Given the description of an element on the screen output the (x, y) to click on. 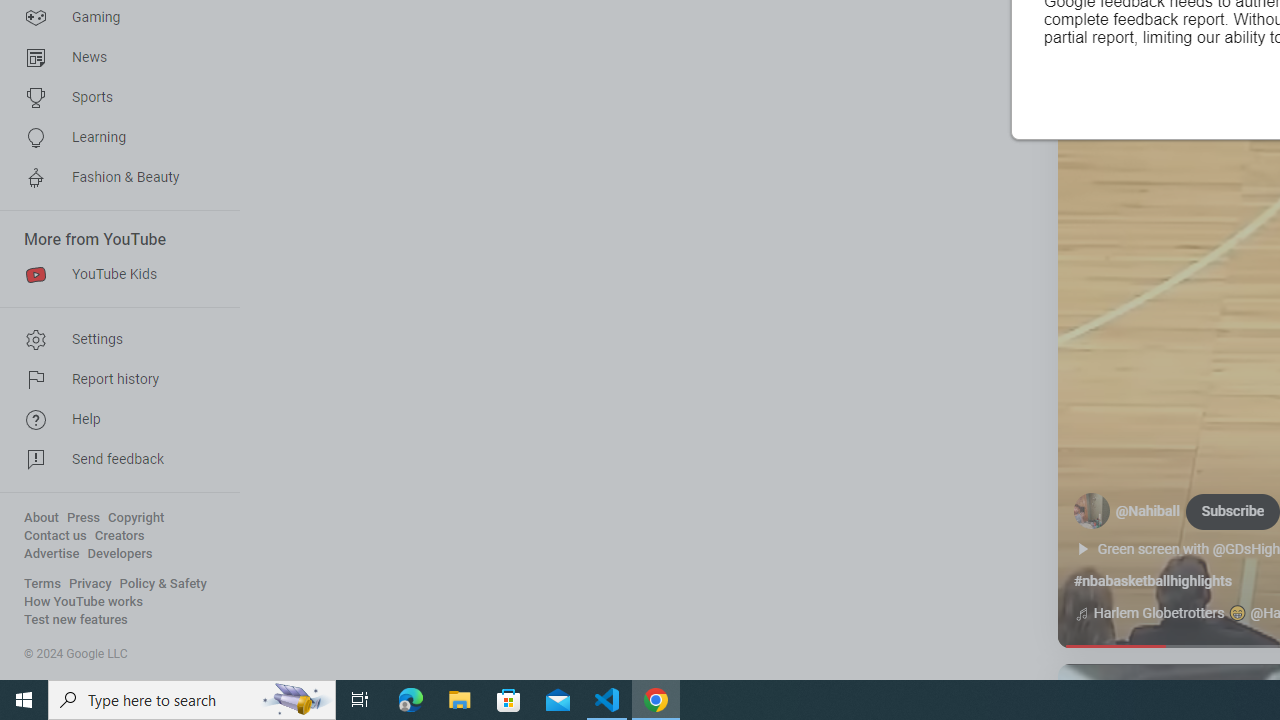
About (41, 518)
Developers (120, 554)
Press (83, 518)
Send feedback (113, 459)
music icon (1081, 614)
YouTube Kids (113, 274)
Creators (118, 536)
Learning (113, 137)
@Nahiball (1147, 511)
#nbabasketballhighlights (1151, 581)
How YouTube works (83, 602)
